Given the description of an element on the screen output the (x, y) to click on. 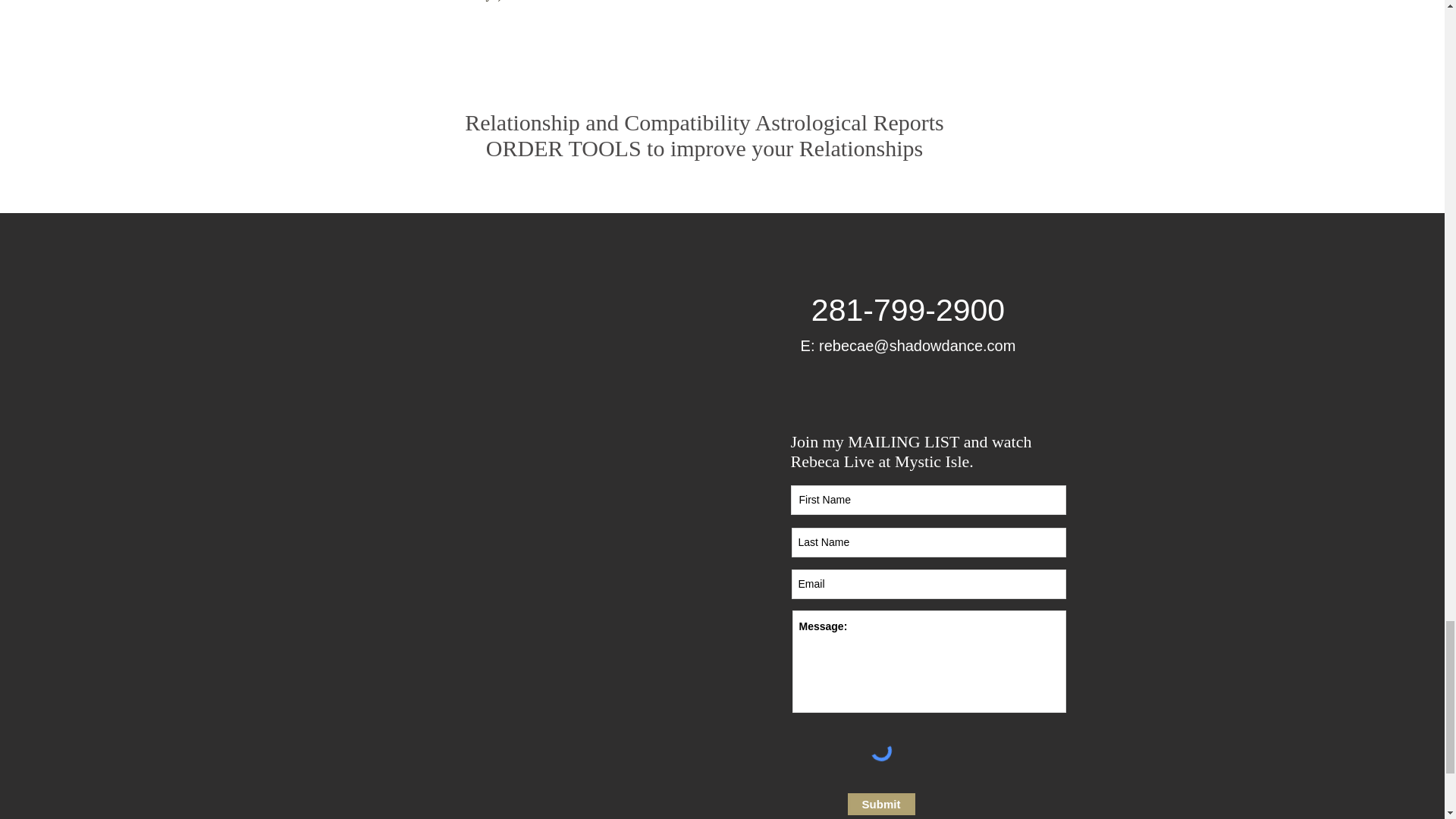
RDER TOOLS to improve your Relationships (712, 147)
Relationship and Compatibility Astrological Reports (703, 122)
